Given the description of an element on the screen output the (x, y) to click on. 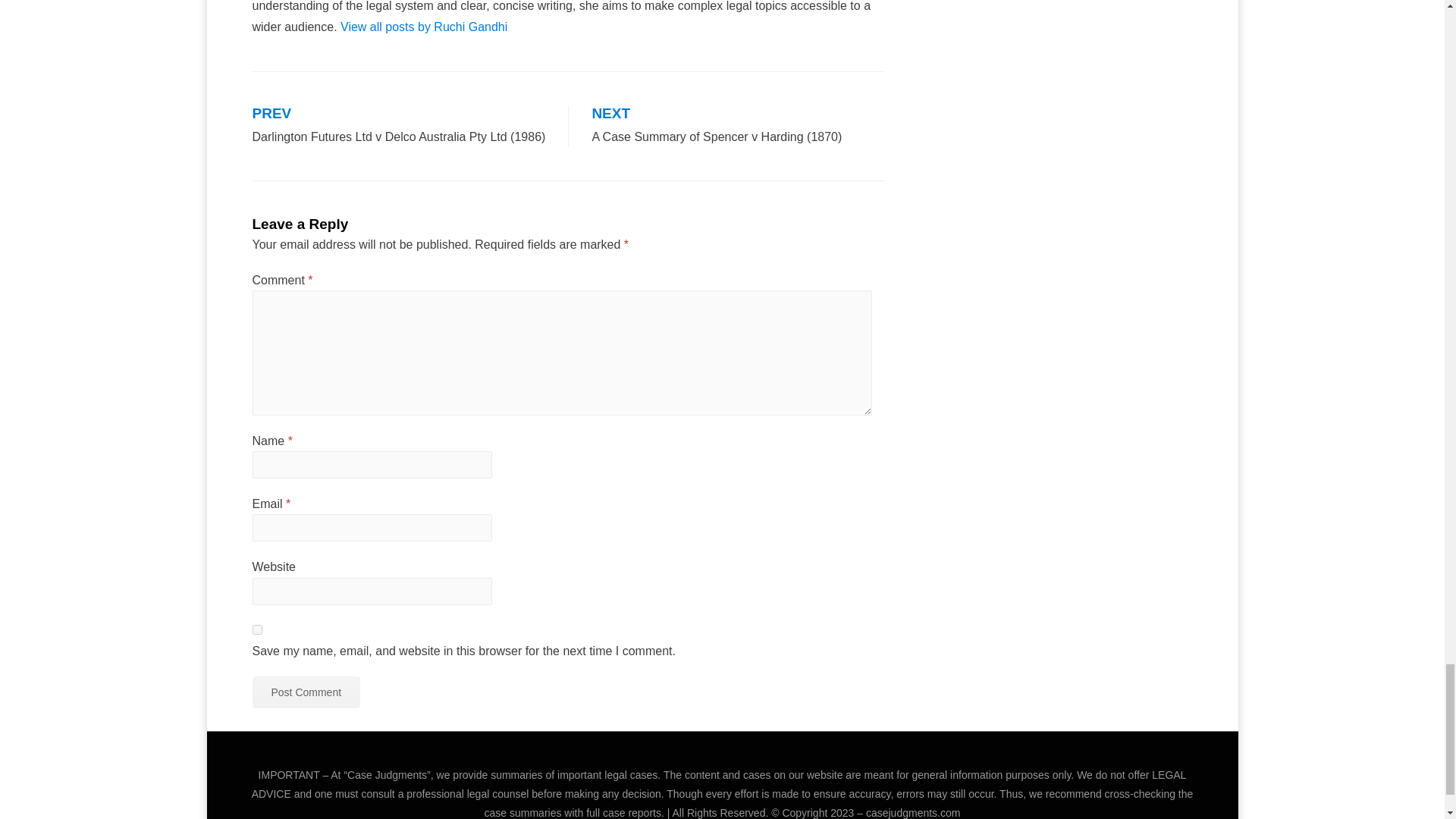
Post Comment (305, 692)
yes (256, 629)
Post Comment (305, 692)
View all posts by Ruchi Gandhi (423, 26)
